Given the description of an element on the screen output the (x, y) to click on. 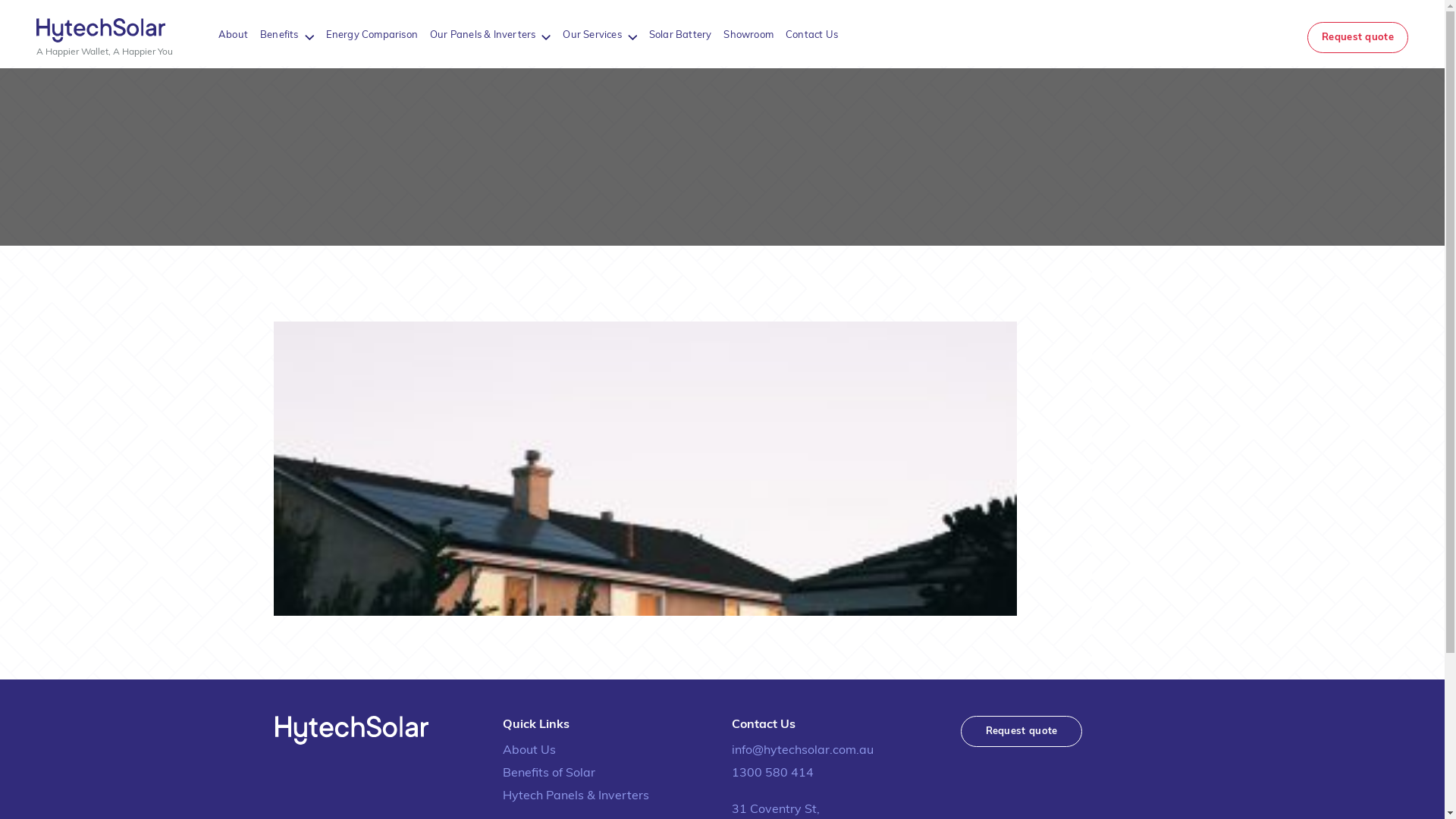
About Element type: text (232, 35)
Energy Comparison Element type: text (371, 35)
Benefits of Solar Element type: text (607, 773)
Request quote Element type: text (1357, 37)
Contact Us Element type: text (811, 35)
1300 580 414 Element type: text (836, 773)
Showroom Element type: text (748, 35)
A Happier Wallet, A Happier You Element type: text (104, 37)
Our Services Element type: text (591, 35)
Request quote Element type: text (1021, 730)
Our Panels & Inverters Element type: text (482, 35)
info@hytechsolar.com.au Element type: text (836, 750)
Solar Battery Element type: text (680, 35)
Hytech Panels & Inverters Element type: text (607, 796)
About Us Element type: text (607, 750)
Benefits Element type: text (279, 35)
